Given the description of an element on the screen output the (x, y) to click on. 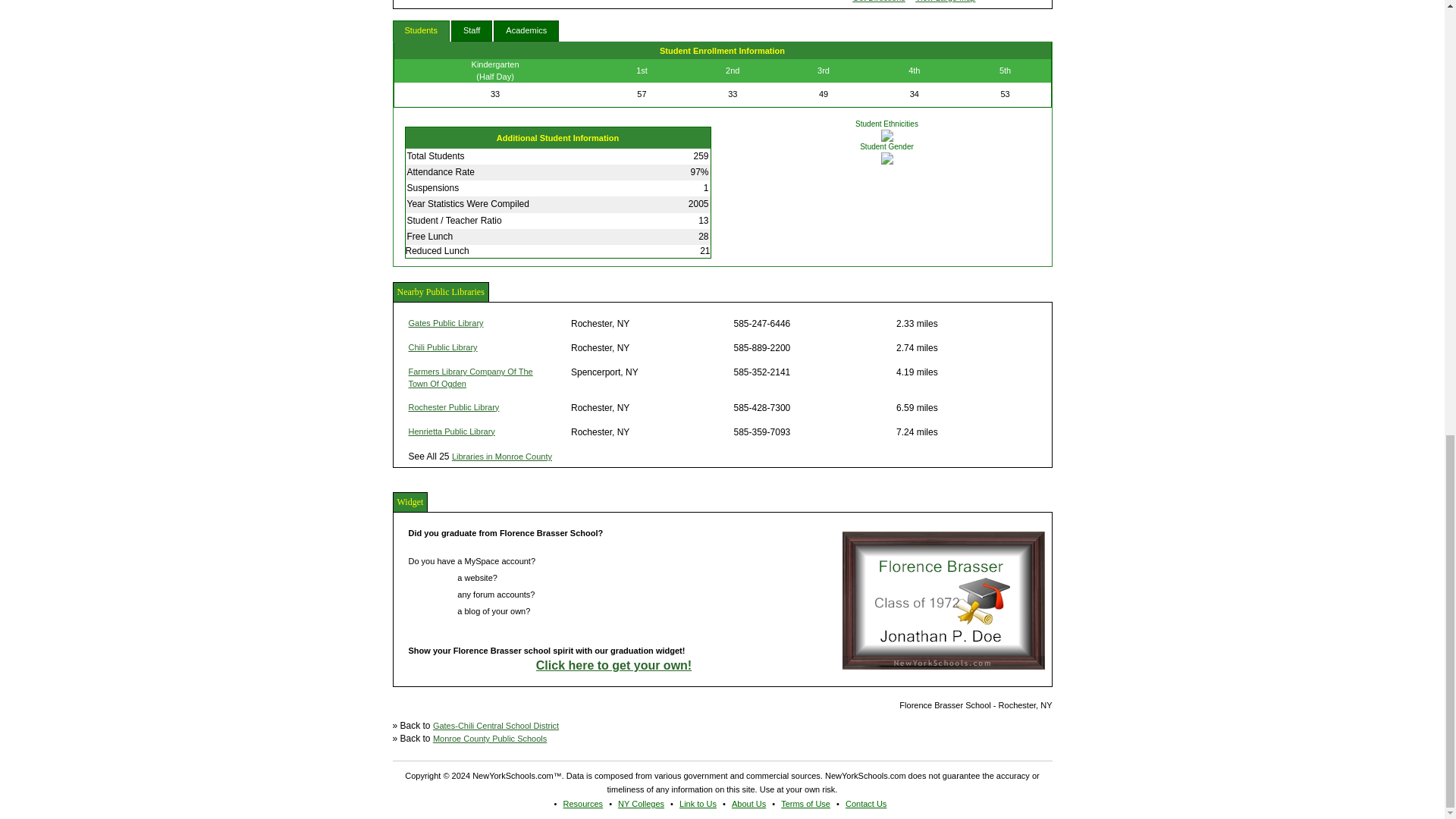
Staff (471, 30)
View Large Map (945, 1)
Students (421, 30)
Get Directions (878, 1)
